Given the description of an element on the screen output the (x, y) to click on. 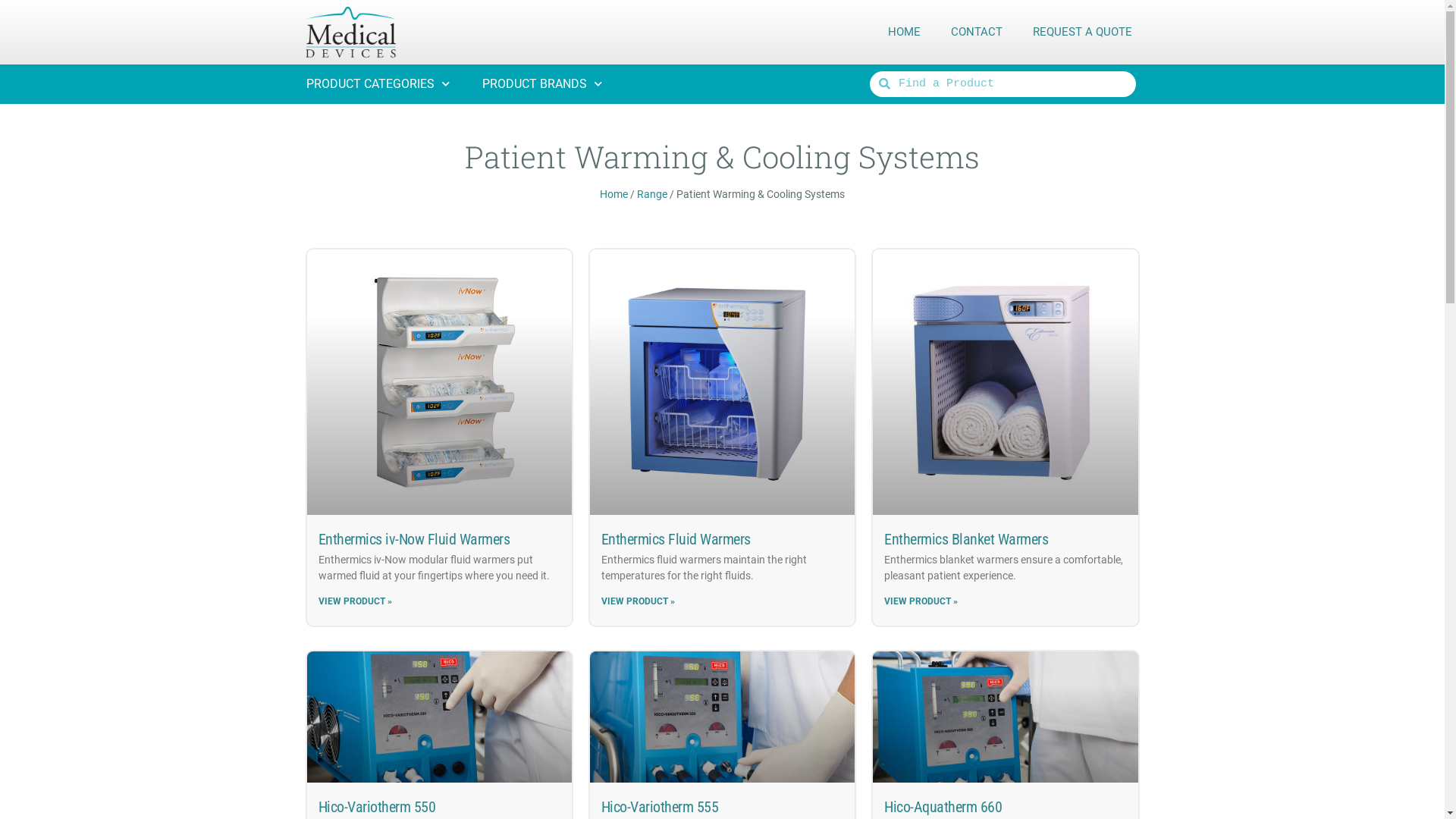
Enthermics iv-Now Fluid Warmers Element type: text (414, 539)
Hico-Variotherm 550 Element type: text (377, 806)
Enthermics Fluid Warmers Element type: text (675, 539)
Hico-Aquatherm 660 Element type: text (942, 806)
PRODUCT BRANDS Element type: text (541, 83)
PRODUCT CATEGORIES Element type: text (377, 83)
Enthermics Blanket Warmers Element type: text (966, 539)
Search Element type: hover (1013, 84)
Hico-Variotherm 555 Element type: text (659, 806)
CONTACT Element type: text (976, 31)
REQUEST A QUOTE Element type: text (1082, 31)
Range Element type: text (652, 194)
Home Element type: text (613, 194)
HOME Element type: text (903, 31)
